Given the description of an element on the screen output the (x, y) to click on. 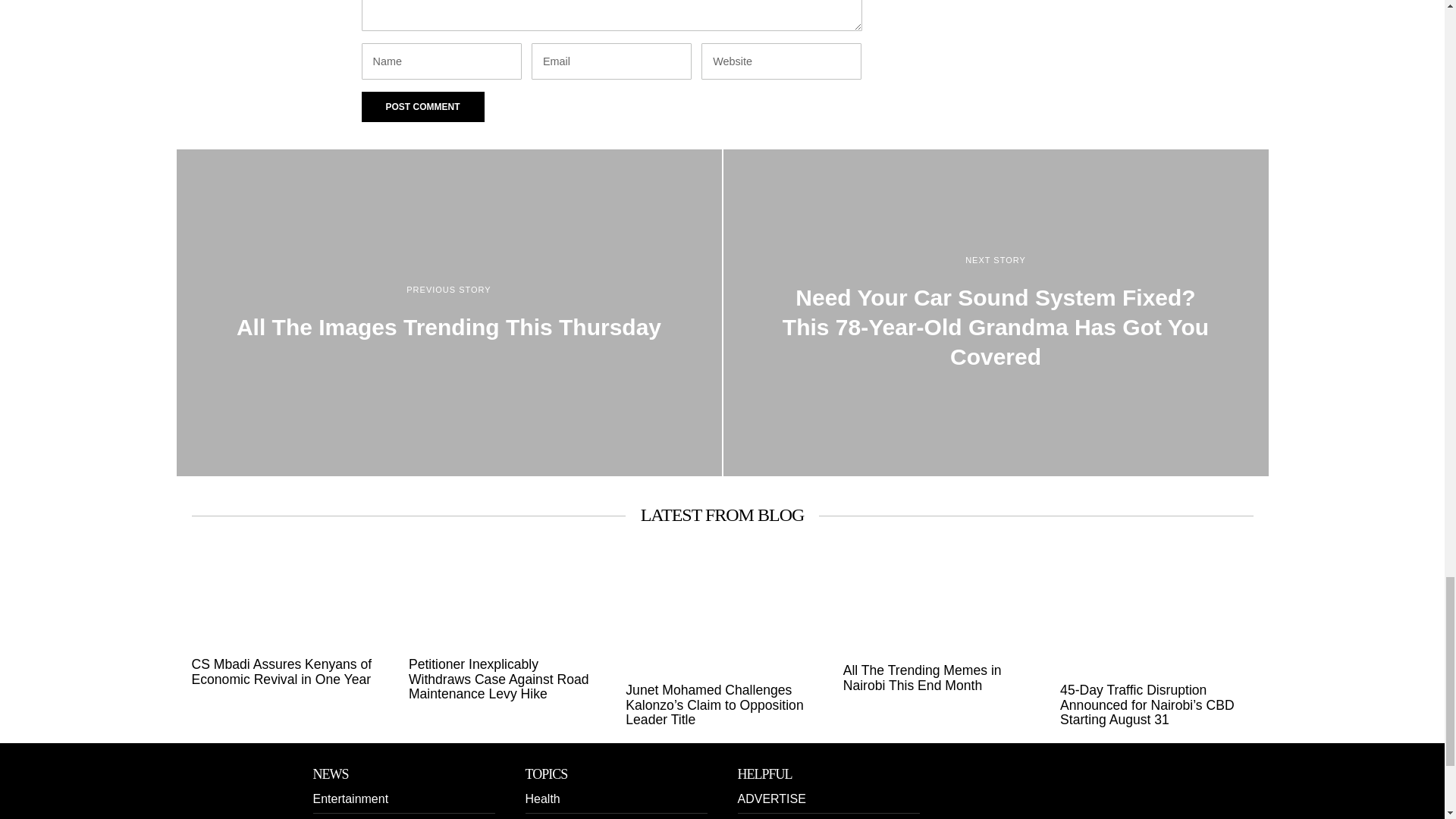
All The Trending Memes in Nairobi This End Month (939, 677)
CS Mbadi Assures Kenyans of Economic Revival in One Year (287, 672)
Entertainment (350, 798)
Post Comment (422, 106)
Post Comment (422, 106)
